Given the description of an element on the screen output the (x, y) to click on. 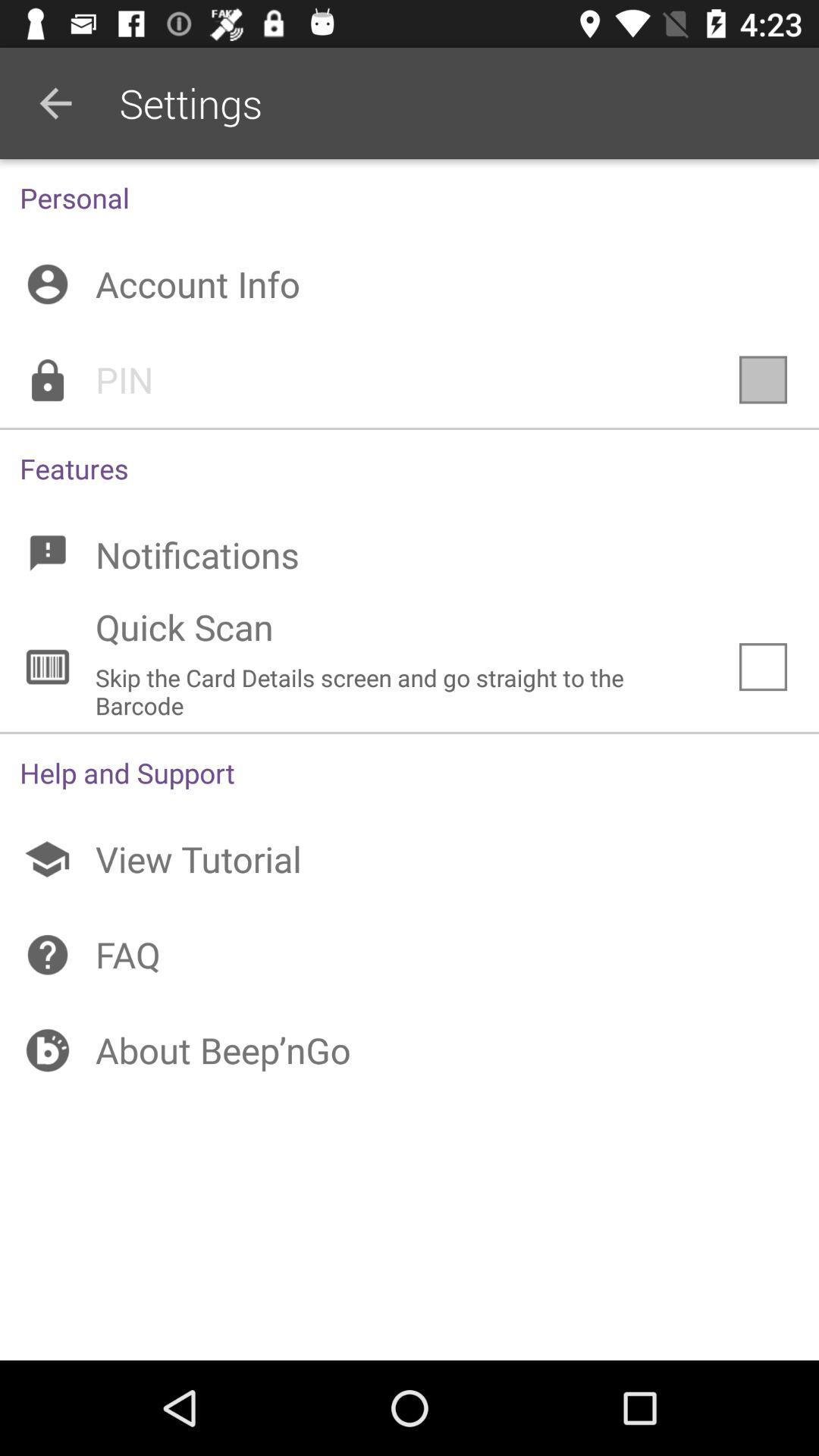
swipe until account info item (409, 284)
